Given the description of an element on the screen output the (x, y) to click on. 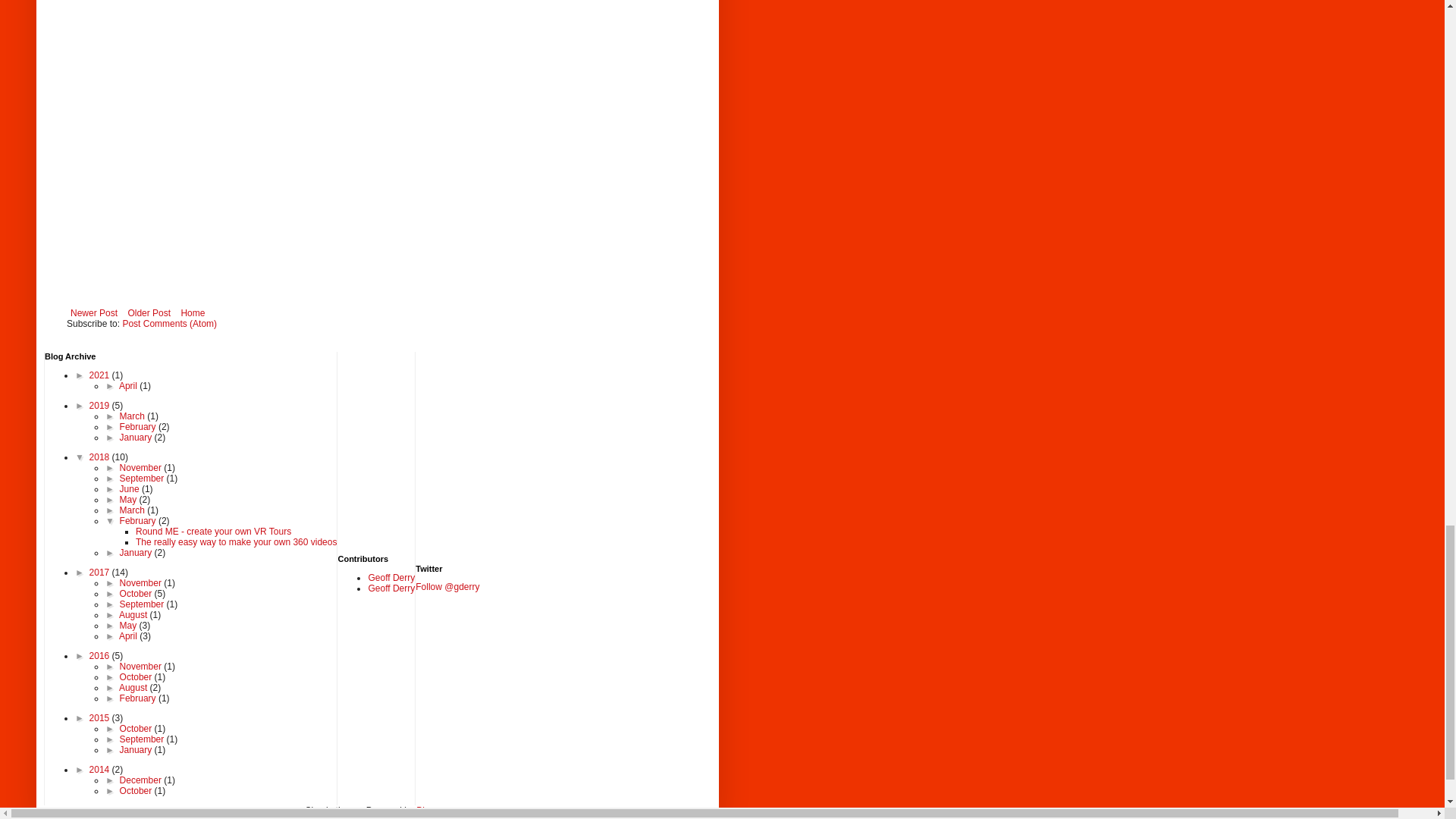
April (129, 385)
Newer Post (93, 312)
Older Post (148, 312)
Home (192, 312)
Older Post (148, 312)
2019 (100, 405)
2021 (100, 375)
Newer Post (93, 312)
